Given the description of an element on the screen output the (x, y) to click on. 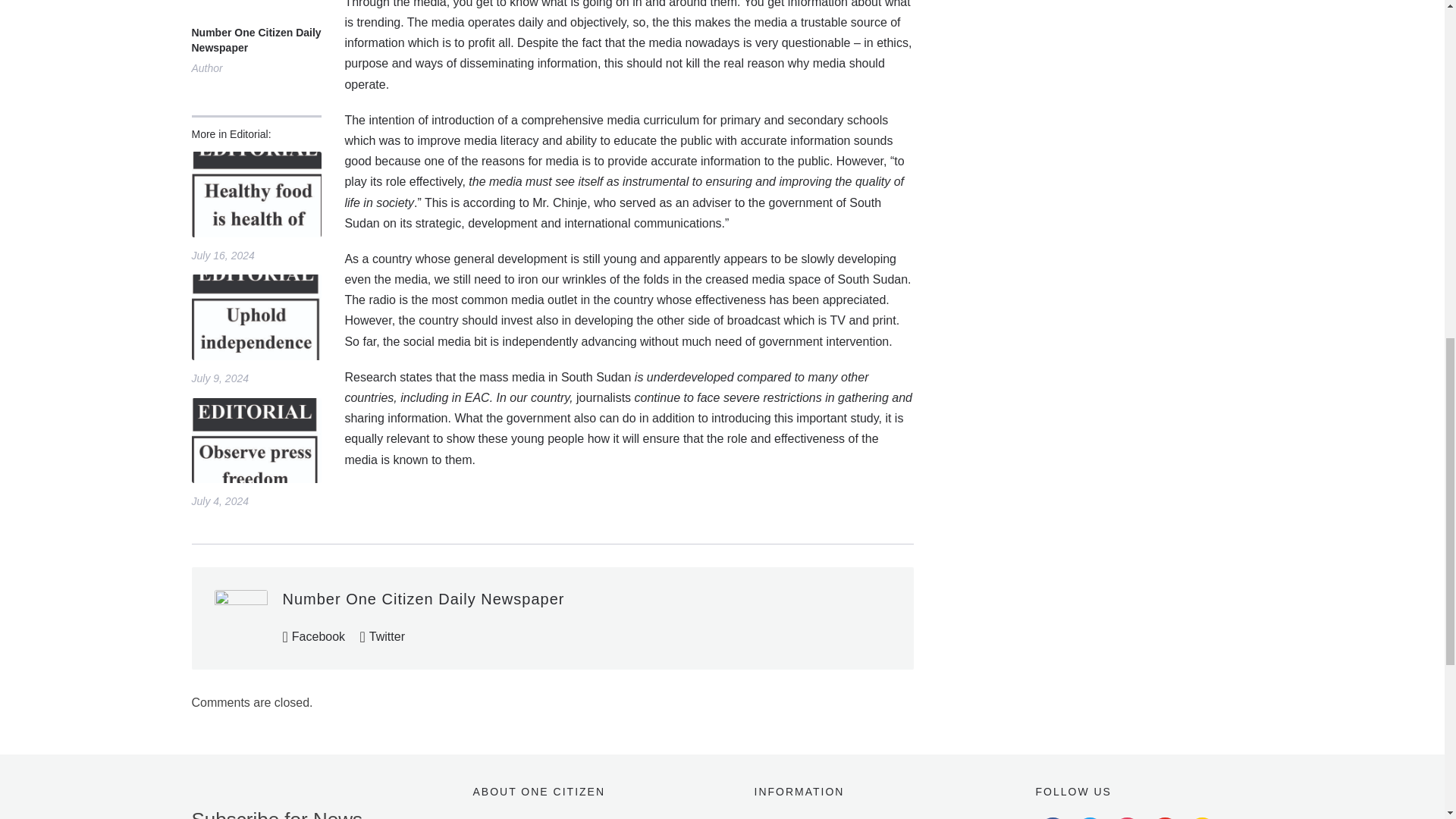
Permalink to  (255, 194)
Posts by Number One Citizen Daily Newspaper (255, 40)
Permalink to  (255, 317)
